Given the description of an element on the screen output the (x, y) to click on. 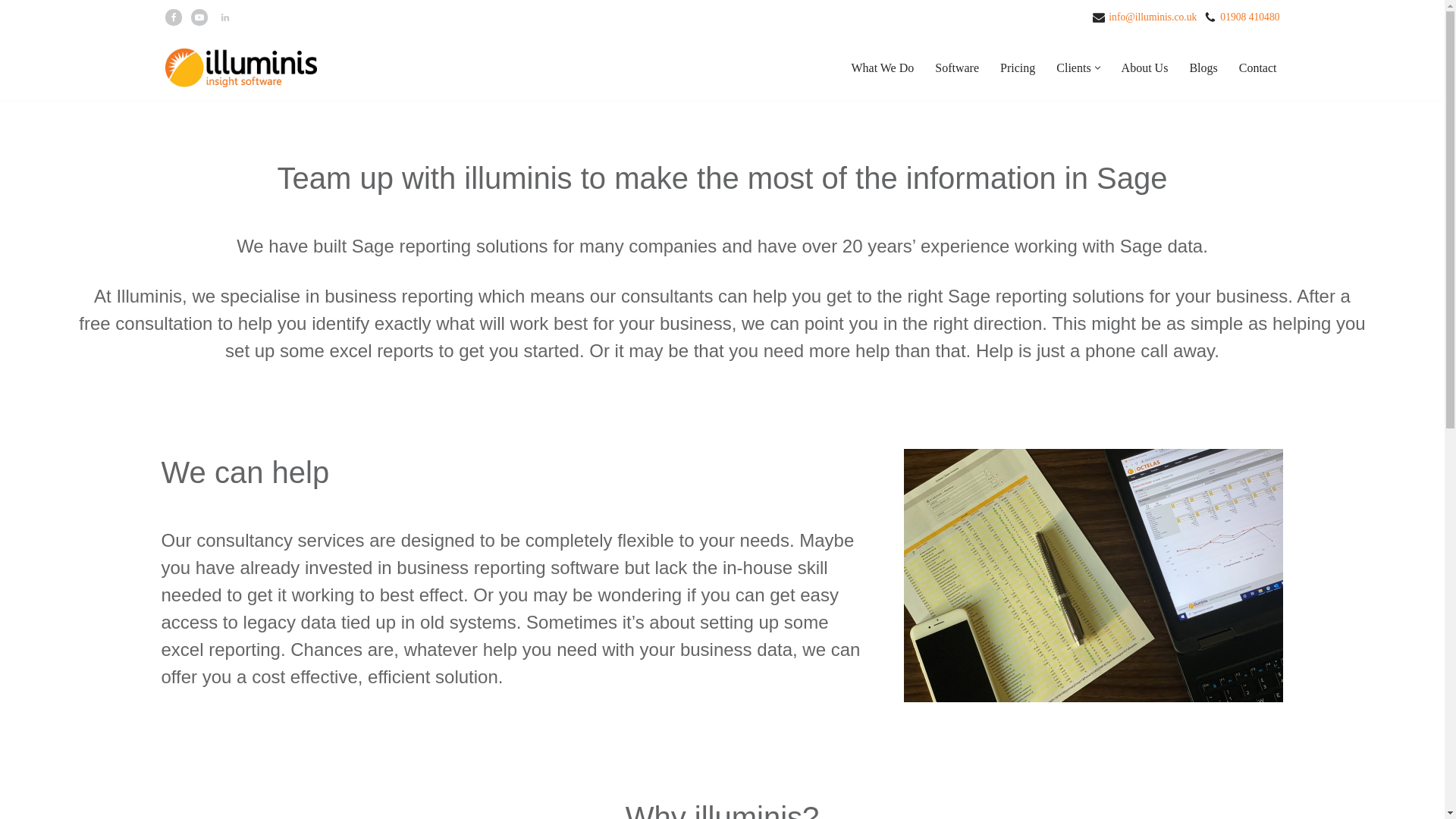
Clients (1073, 67)
Facebook (173, 17)
01908 410480 (1249, 17)
Contact (1257, 67)
About Us (1145, 67)
Blogs (1203, 67)
Pricing (1017, 67)
Skip to content (11, 31)
What We Do (882, 67)
Software (956, 67)
Youtube (199, 17)
LinkedIn (224, 17)
